Given the description of an element on the screen output the (x, y) to click on. 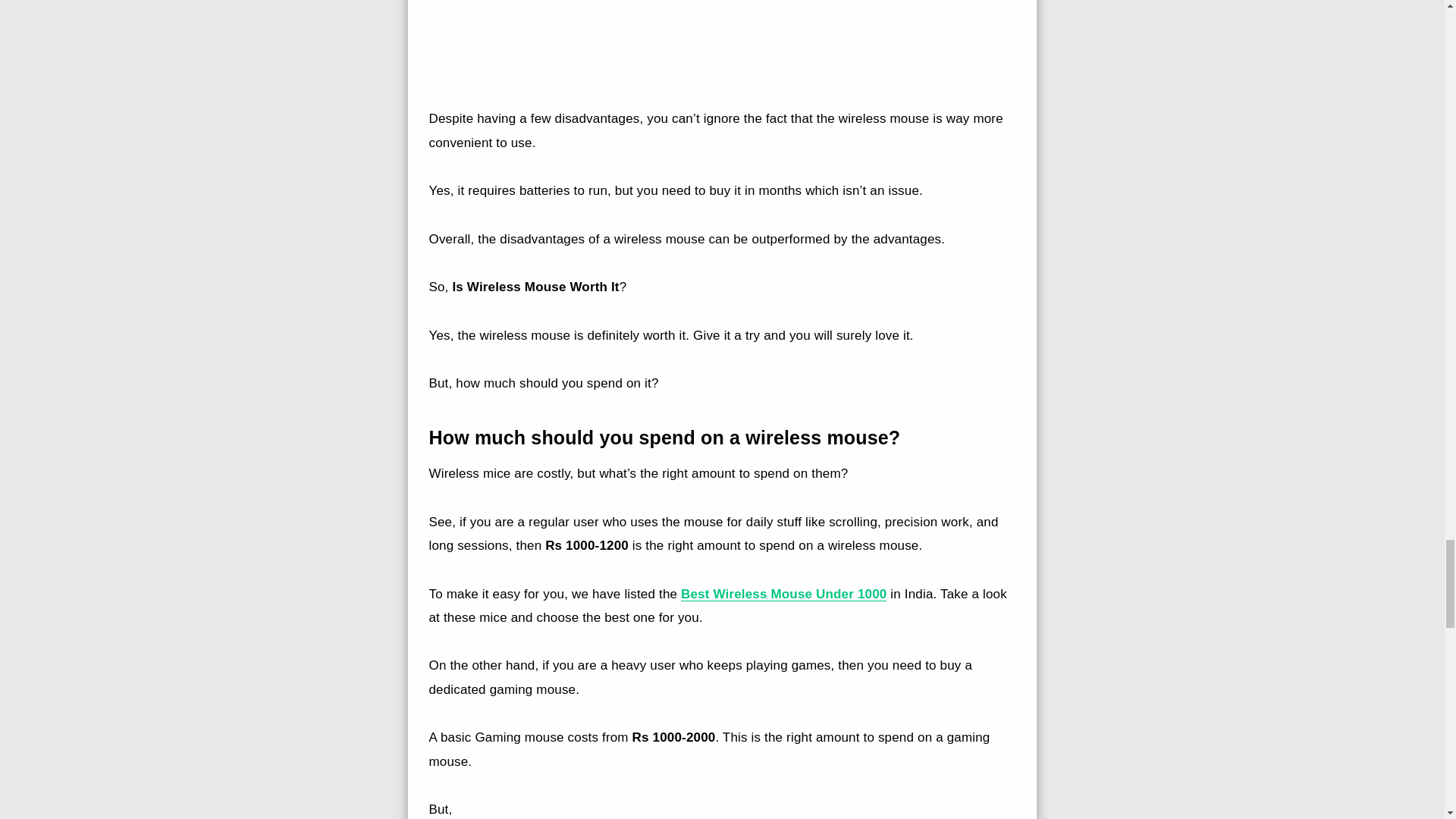
Best Wireless Mouse Under 1000 (783, 594)
